Given the description of an element on the screen output the (x, y) to click on. 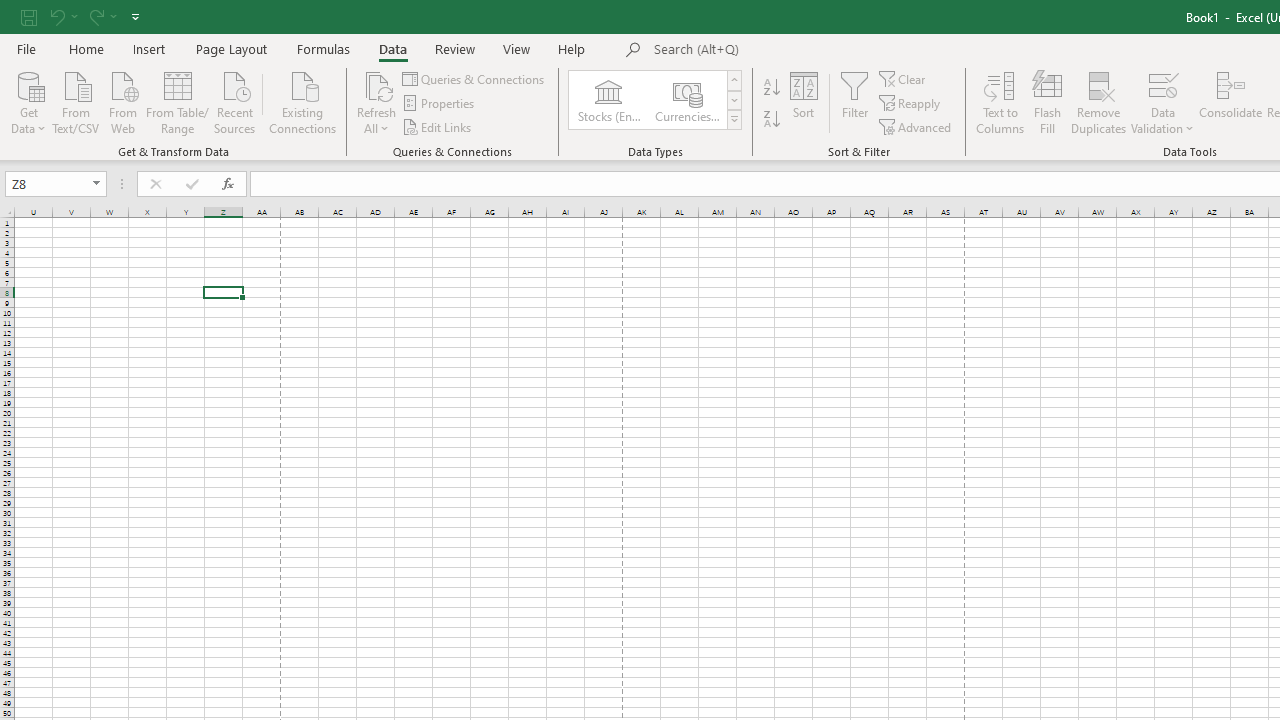
Reapply (911, 103)
Edit Links (438, 126)
Get Data (28, 101)
Sort A to Z (772, 87)
AutomationID: ConvertToLinkedEntity (655, 99)
